Given the description of an element on the screen output the (x, y) to click on. 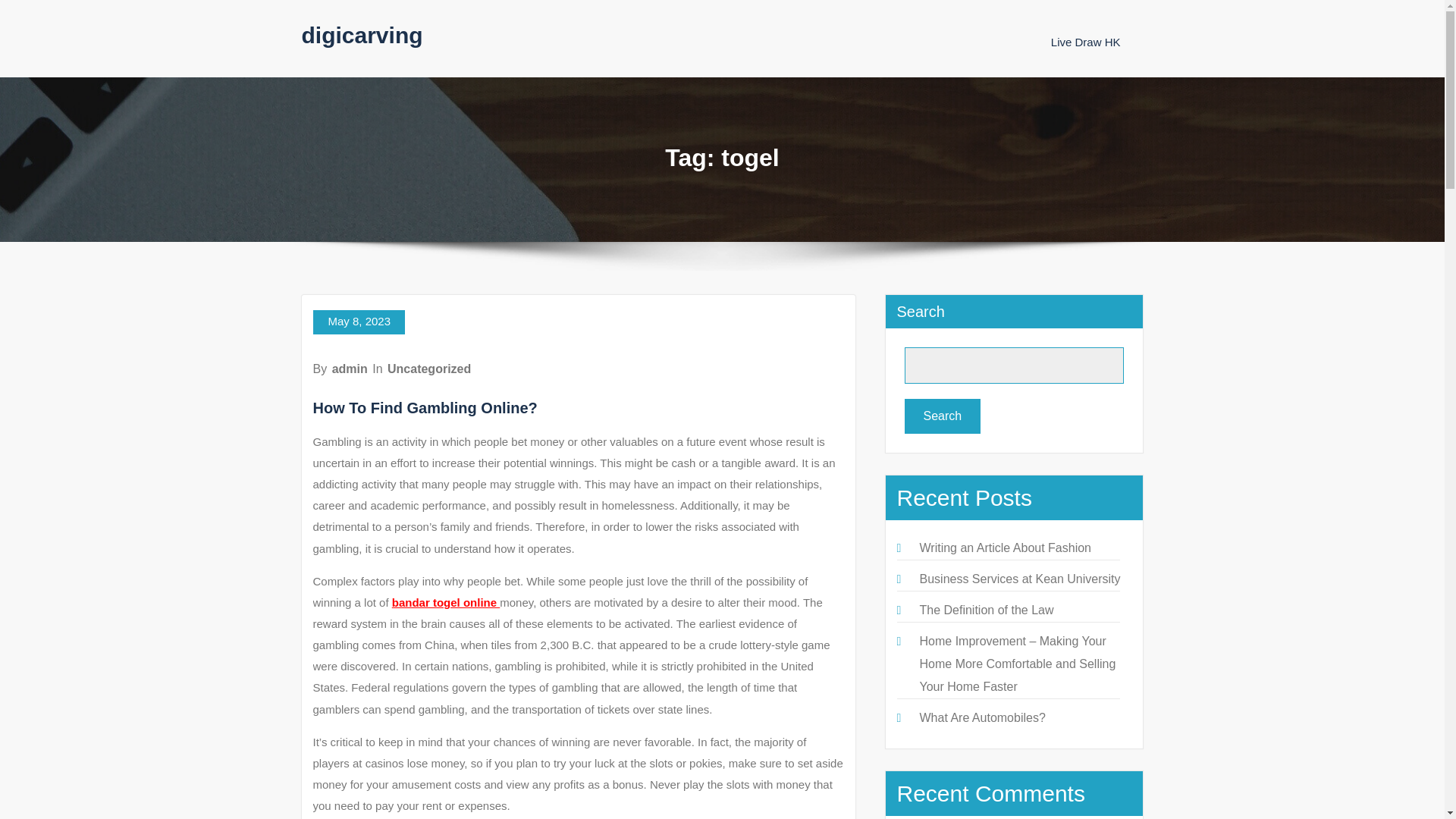
admin (349, 368)
May 8, 2023 (358, 322)
Uncategorized (428, 368)
Search (941, 416)
digicarving (362, 34)
Writing an Article About Fashion (1004, 547)
The Definition of the Law (985, 609)
What Are Automobiles? (981, 717)
How To Find Gambling Online? (425, 407)
Live Draw HK (1086, 41)
Business Services at Kean University (1018, 578)
bandar togel online (445, 602)
